Given the description of an element on the screen output the (x, y) to click on. 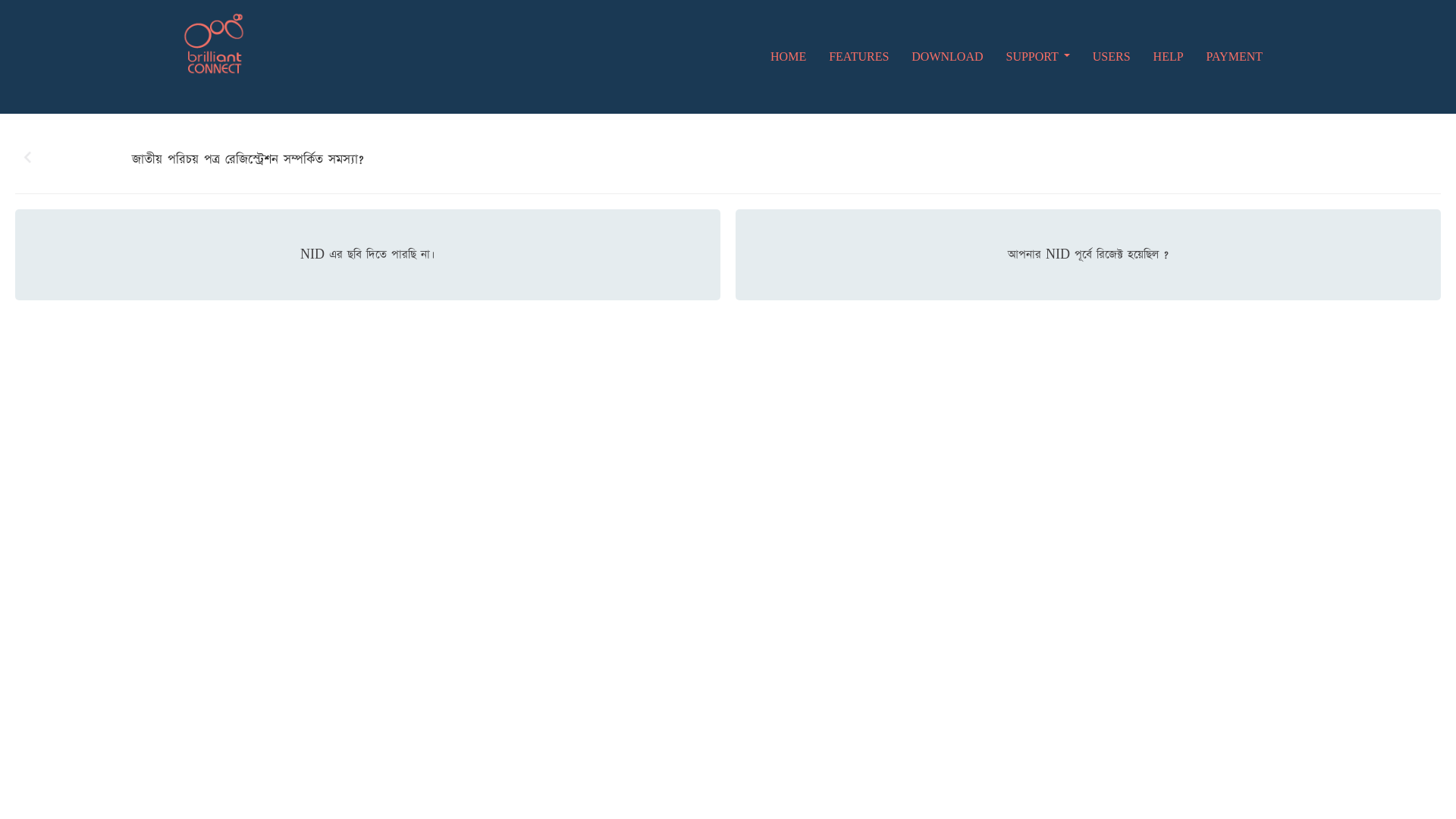
DOWNLOAD Element type: text (947, 56)
HELP Element type: text (1168, 56)
USERS Element type: text (1111, 56)
FEATURES Element type: text (858, 56)
SUPPORT Element type: text (1037, 56)
PAYMENT Element type: text (1234, 56)
HOME Element type: text (788, 56)
